Given the description of an element on the screen output the (x, y) to click on. 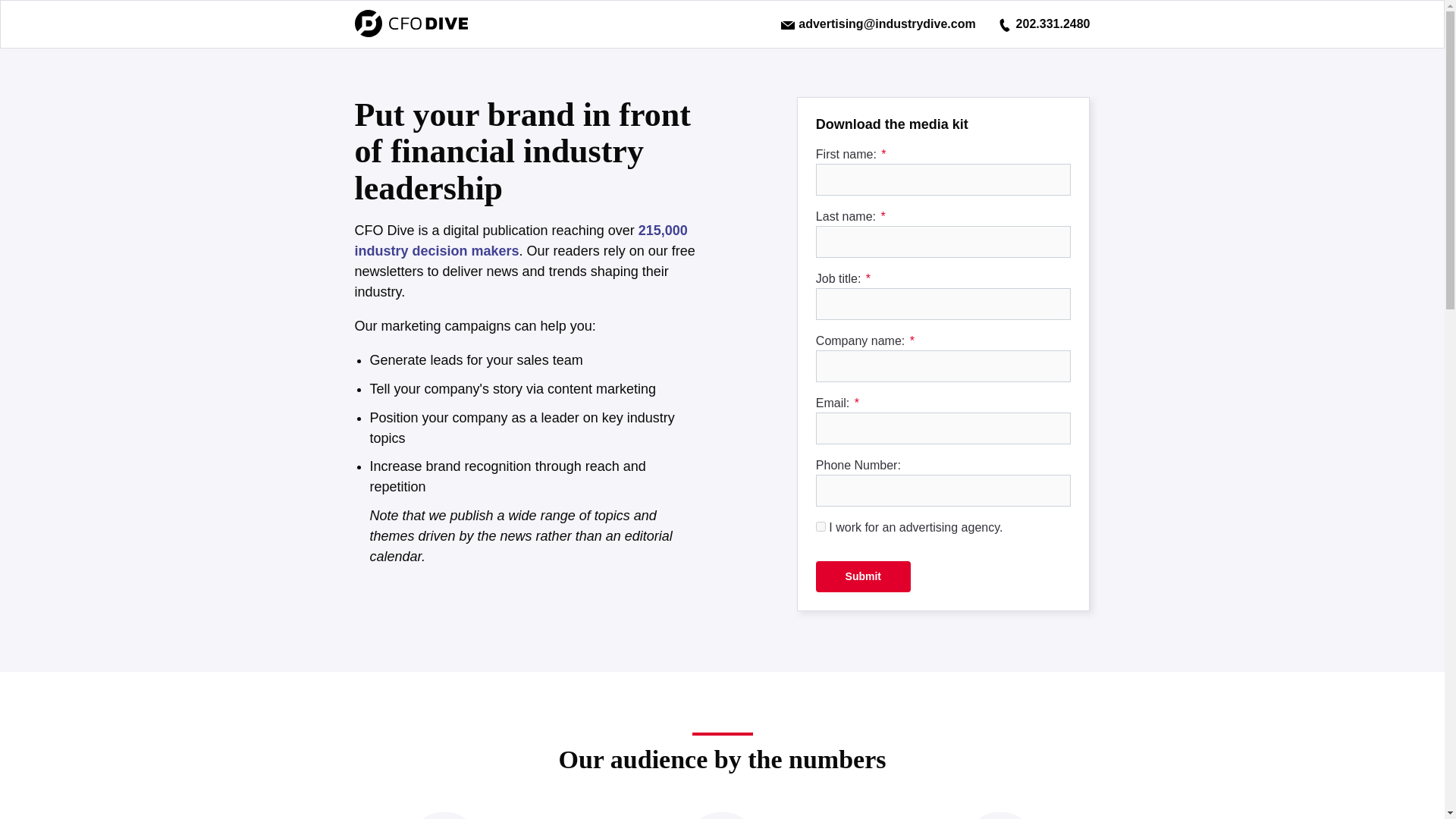
Submit (863, 576)
202.331.2480 (1043, 23)
on (820, 526)
